Given the description of an element on the screen output the (x, y) to click on. 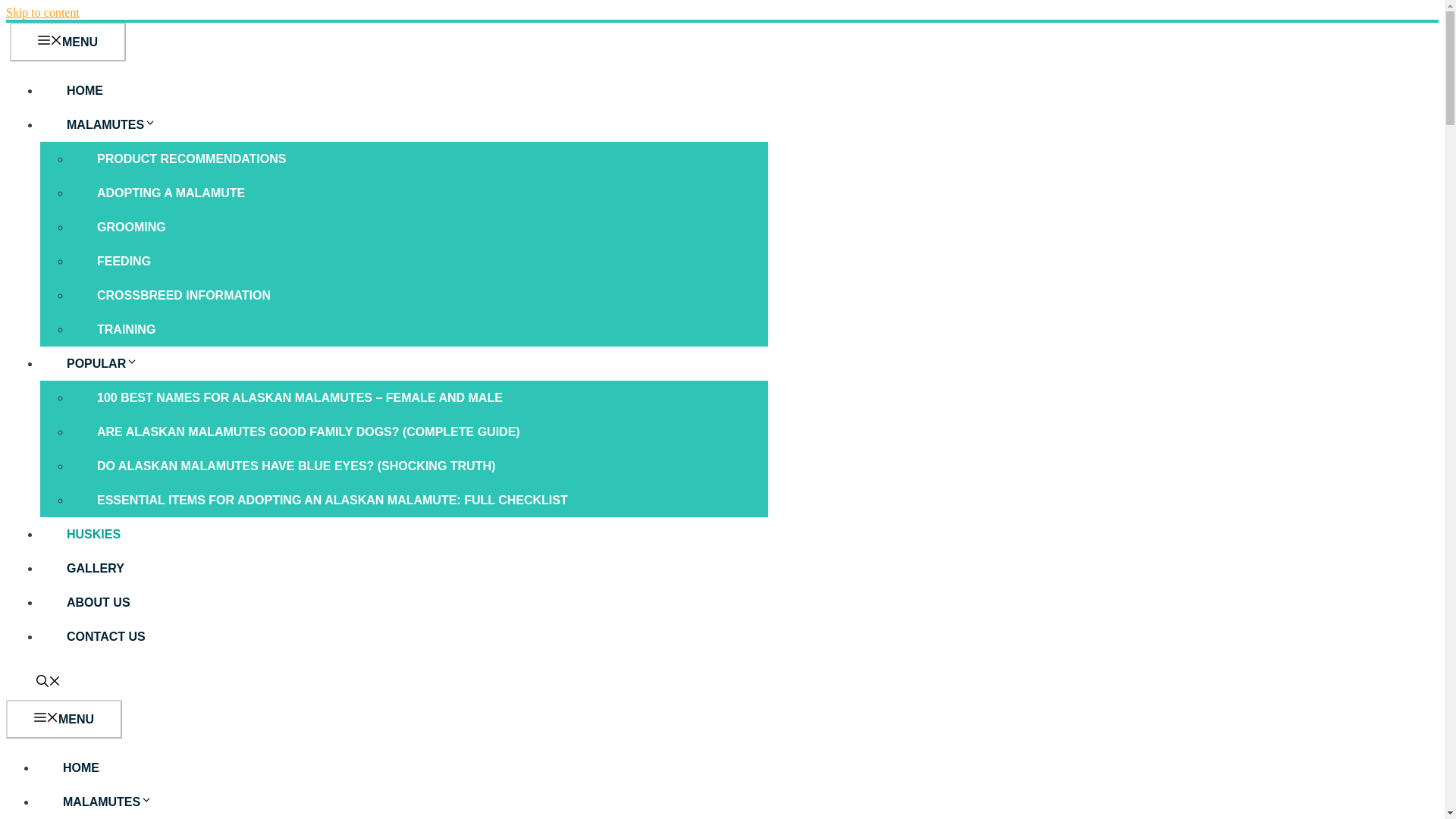
HUSKIES (93, 533)
MENU (63, 719)
FEEDING (123, 261)
PRODUCT RECOMMENDATIONS (191, 158)
GALLERY (95, 567)
MALAMUTES (120, 801)
HOME (80, 767)
Skip to content (42, 11)
CROSSBREED INFORMATION (183, 295)
